Given the description of an element on the screen output the (x, y) to click on. 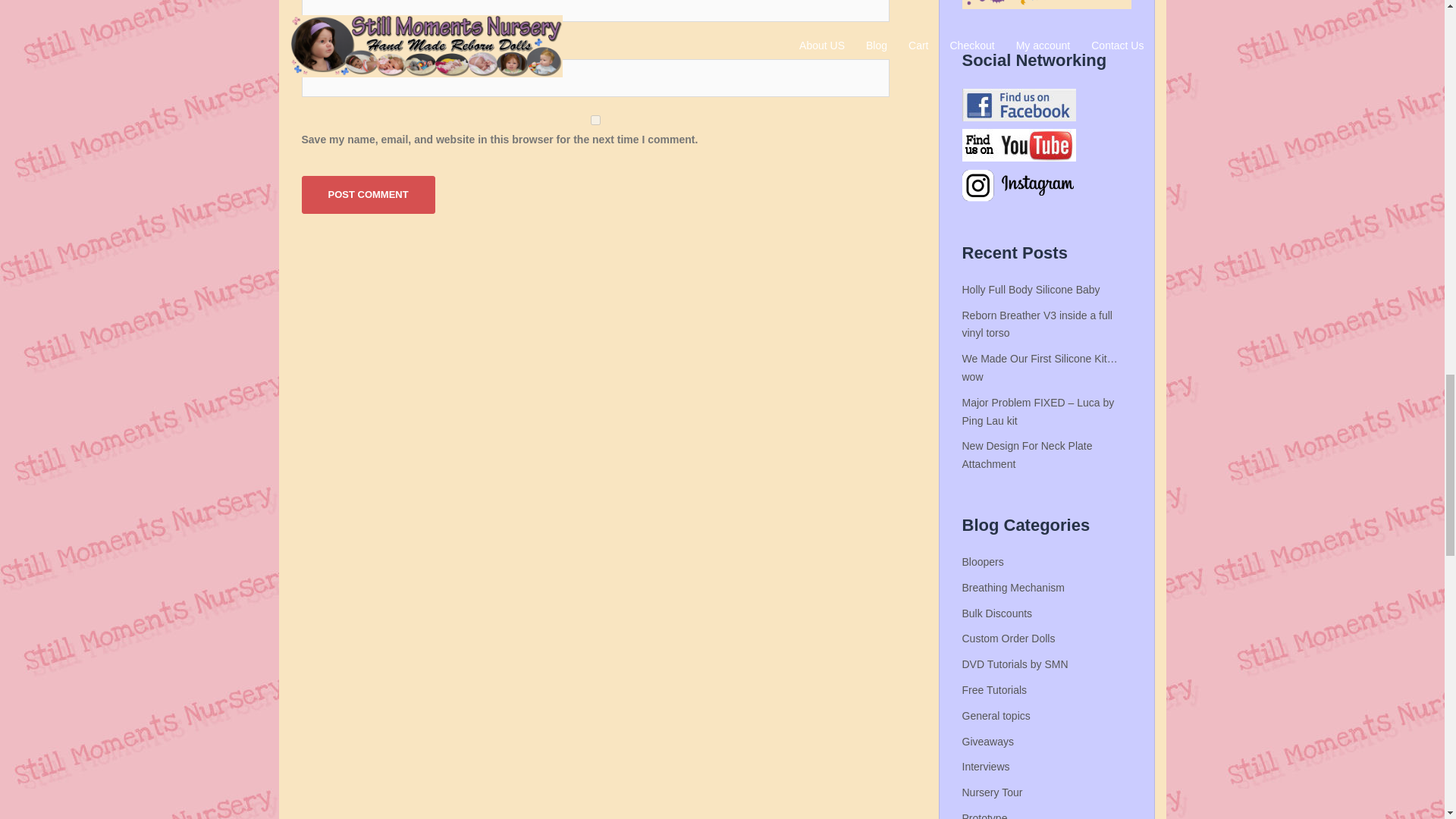
Post Comment (368, 194)
yes (595, 120)
